Given the description of an element on the screen output the (x, y) to click on. 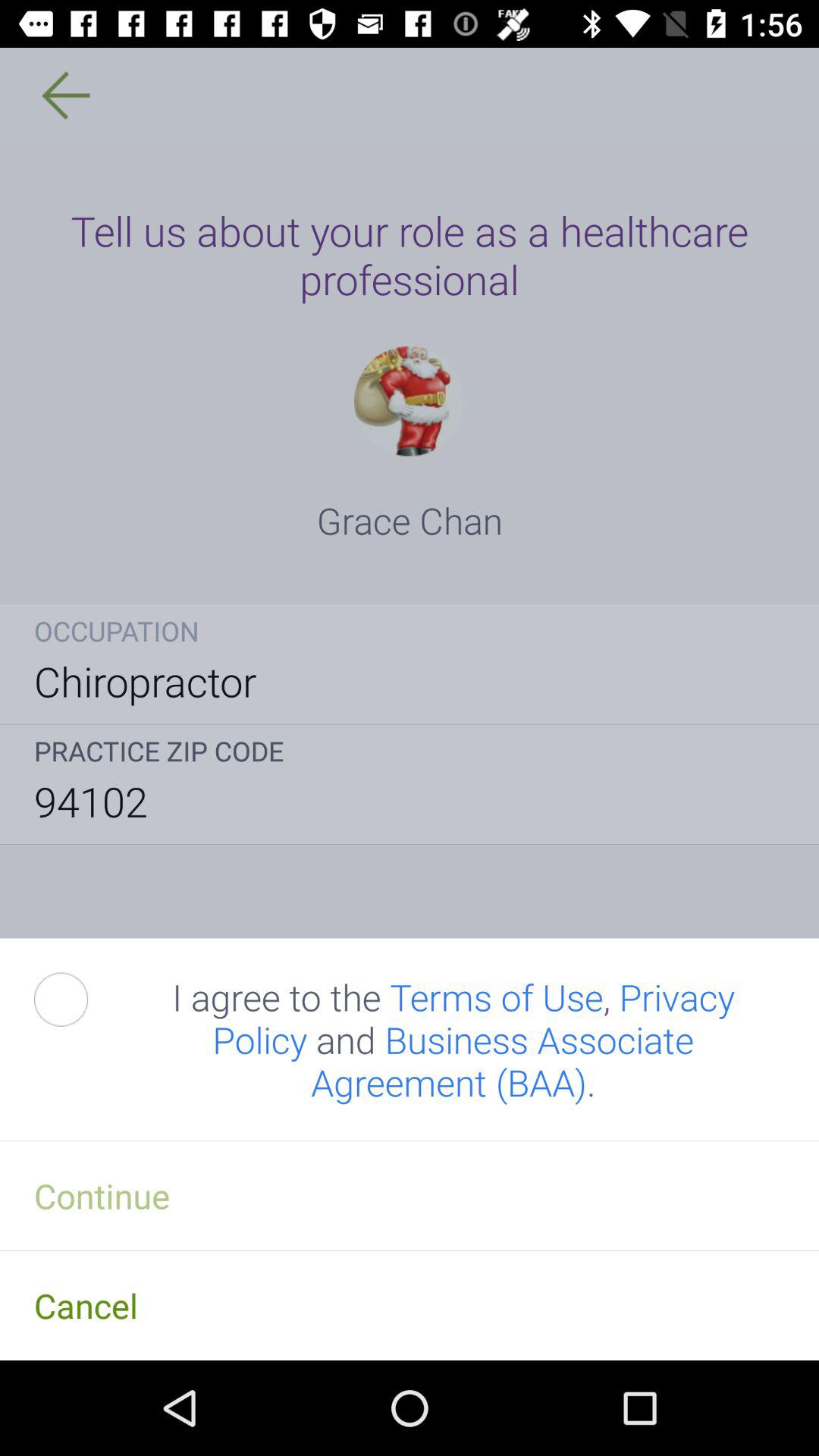
click item next to the i agree to (78, 999)
